Given the description of an element on the screen output the (x, y) to click on. 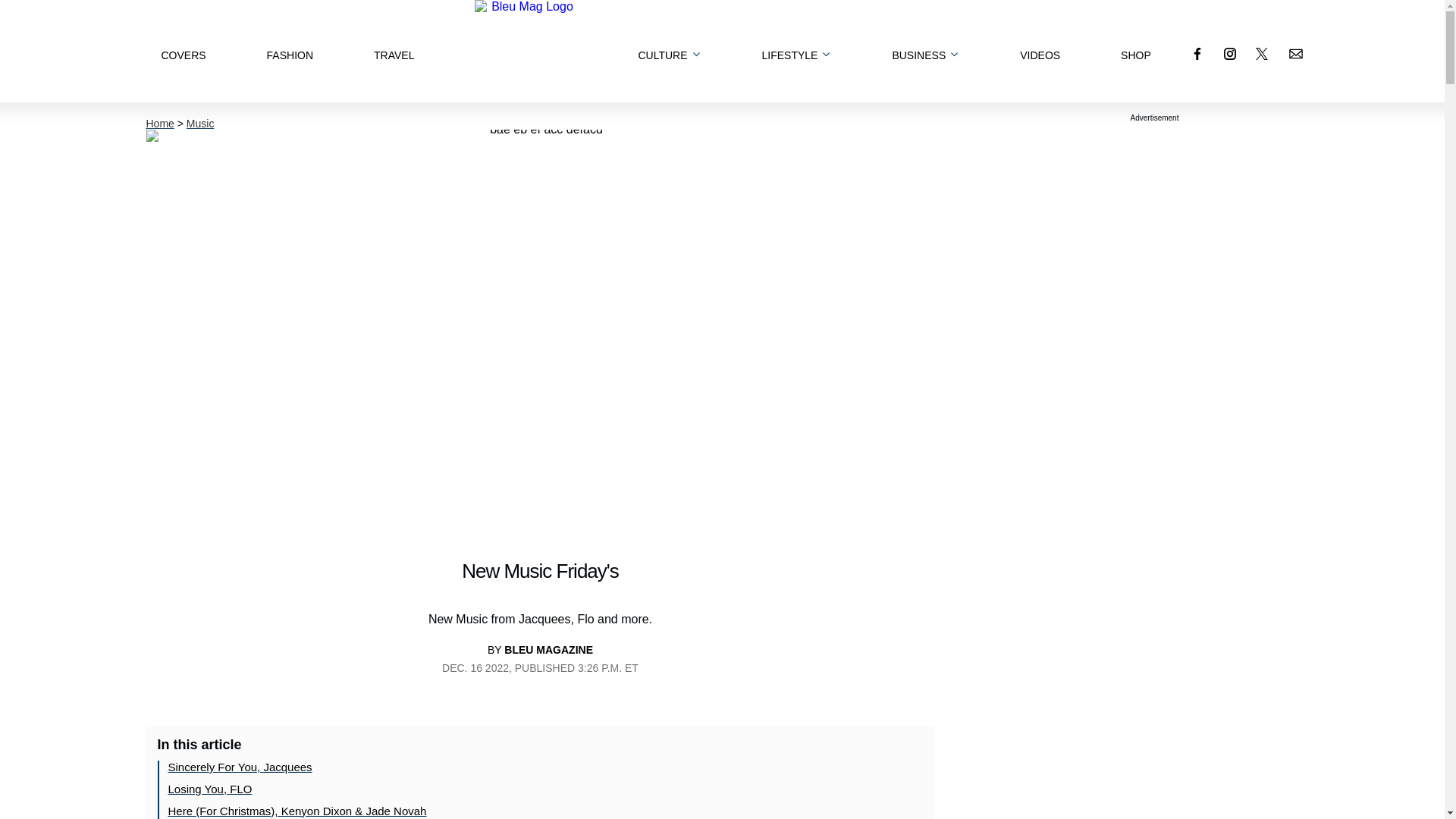
TRAVEL (393, 50)
VIDEOS (1039, 50)
FASHION (289, 50)
LINK TO FACEBOOK (1197, 53)
COVERS (182, 50)
LINK TO INSTAGRAM (1230, 53)
LINK TO EMAIL SUBSCRIBE (1295, 53)
LINK TO X (1261, 53)
